Given the description of an element on the screen output the (x, y) to click on. 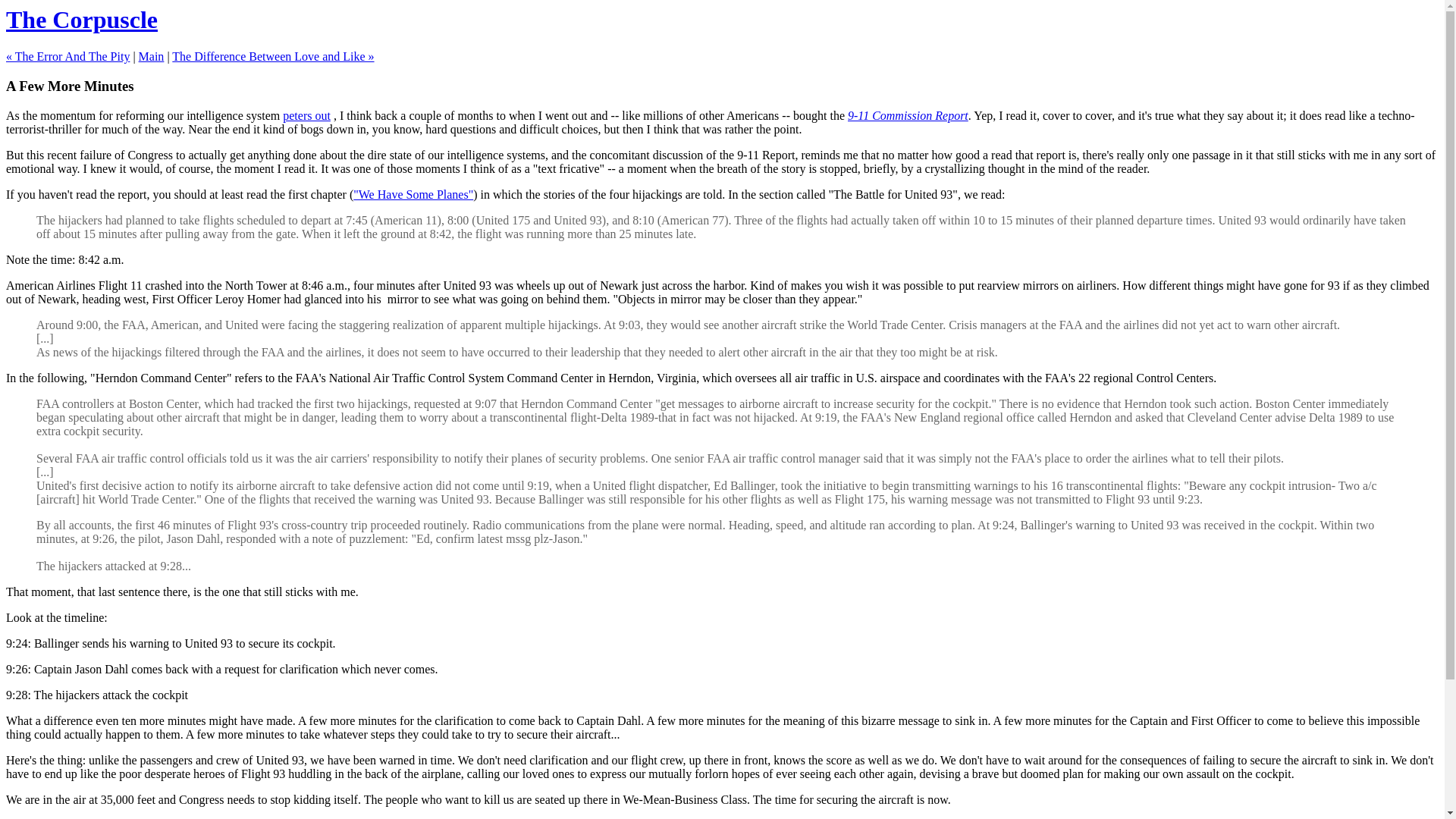
peters out (306, 115)
Main (151, 56)
The Corpuscle (81, 19)
"We Have Some Planes" (413, 194)
9-11 Commission Report (907, 115)
